Given the description of an element on the screen output the (x, y) to click on. 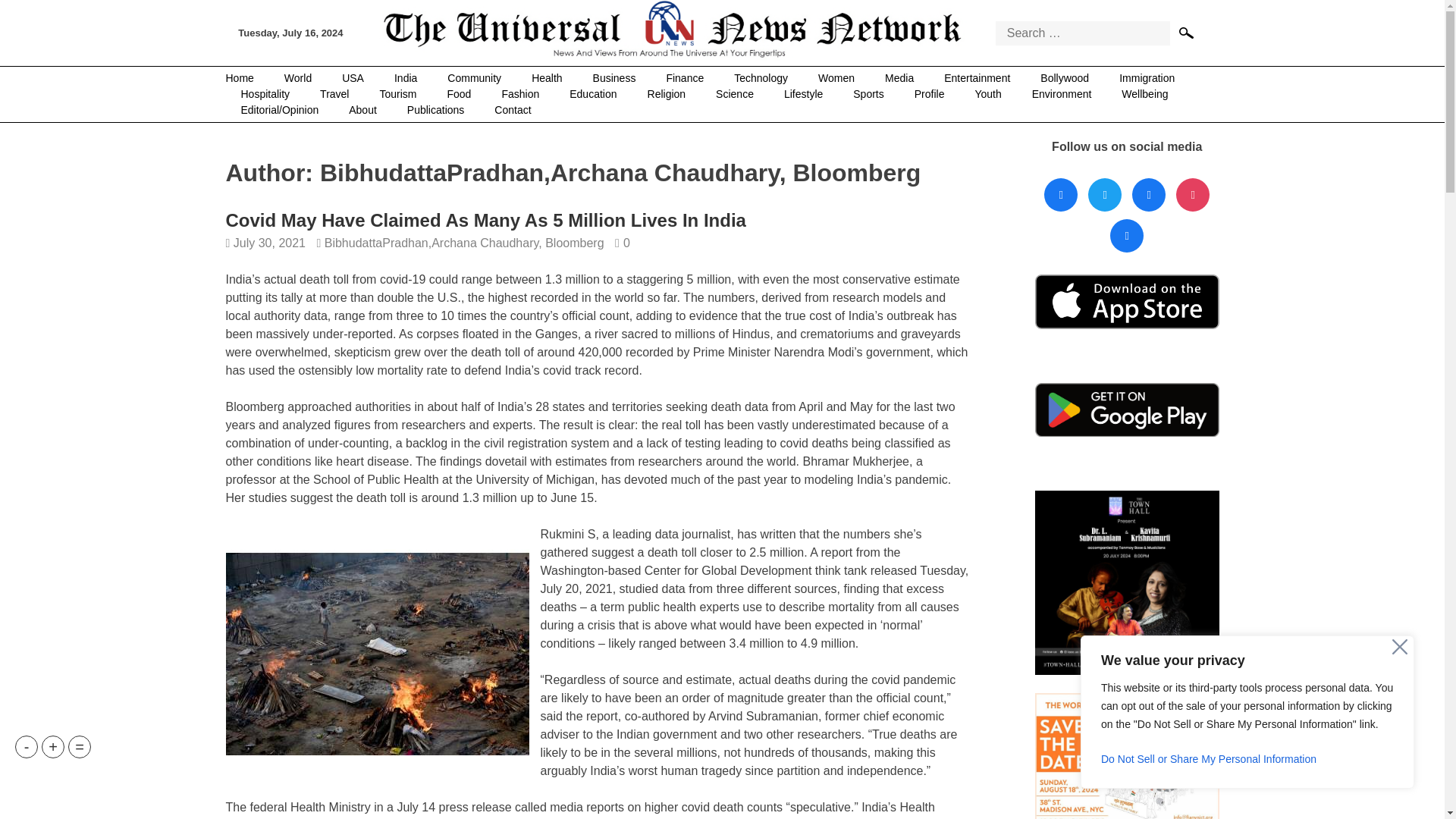
Twitter (1104, 194)
Hospitality (265, 94)
Search (1187, 32)
Bollywood (1064, 78)
Technology (761, 78)
Reset text size (79, 746)
World (297, 78)
Tourism (397, 94)
Health (546, 78)
Food (459, 94)
Do Not Sell or Share My Personal Information (1246, 759)
Home (247, 78)
Religion (666, 94)
Decrease text size (25, 746)
Sports (868, 94)
